Given the description of an element on the screen output the (x, y) to click on. 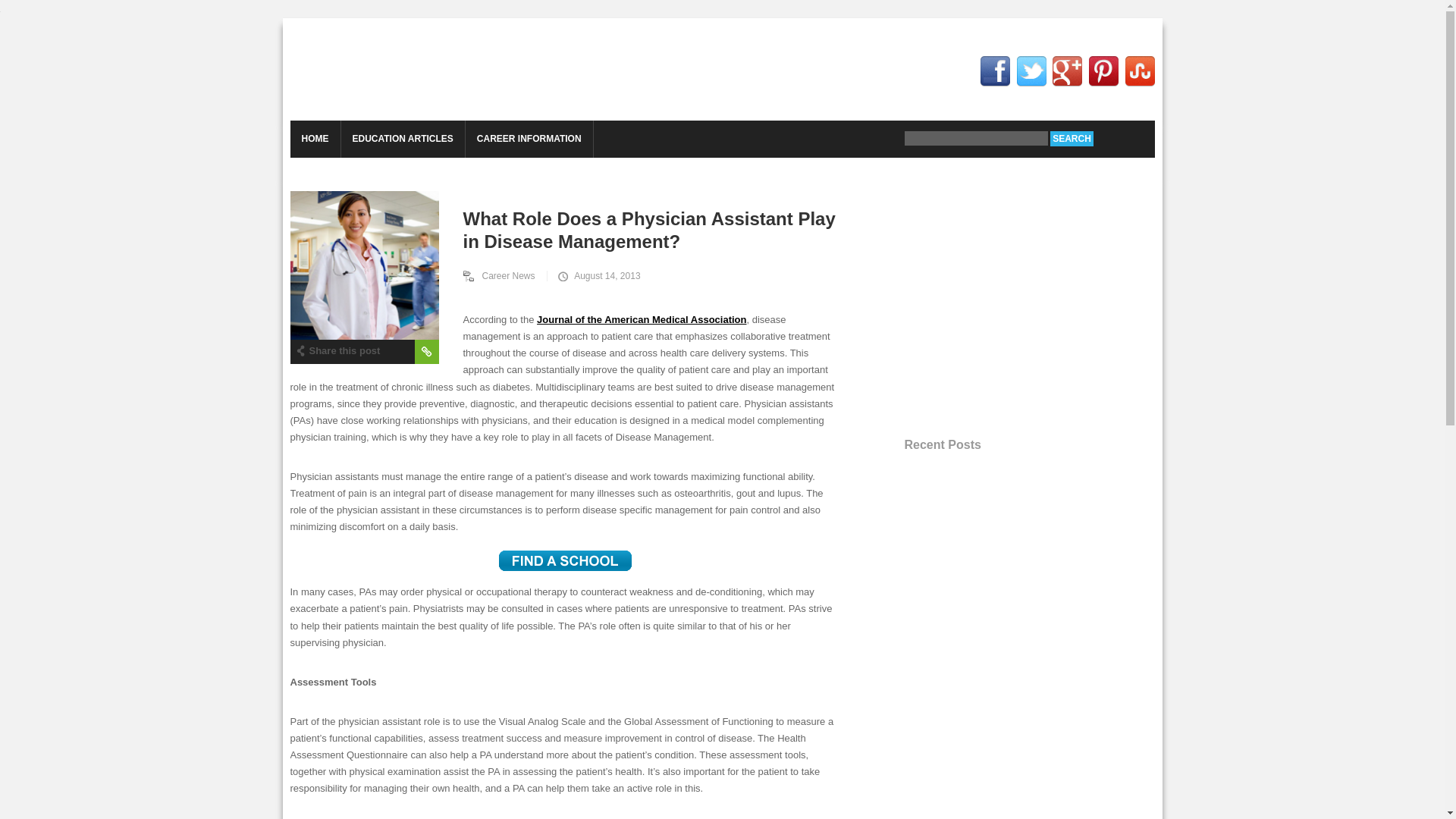
Journal of the American Medical Association (641, 319)
Education Career Articles (406, 69)
August 14, 2013 (597, 276)
Permalink (425, 351)
Career News (505, 276)
CAREER INFORMATION (528, 139)
EDUCATION ARTICLES (402, 139)
5:00 PM (597, 276)
HOME (314, 139)
Education Career Articles (406, 69)
Search (1071, 138)
Share this post (336, 349)
